Given the description of an element on the screen output the (x, y) to click on. 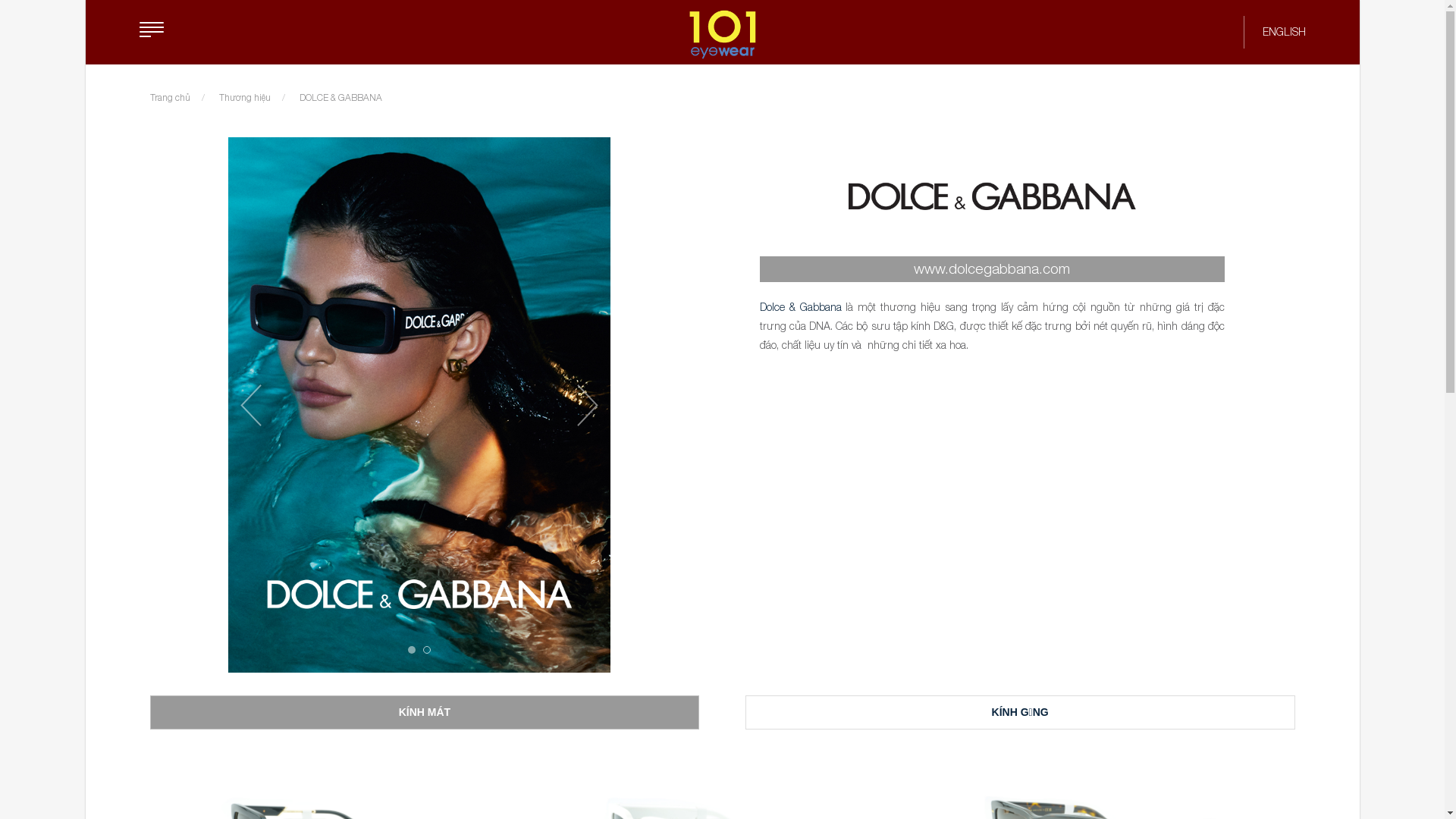
ENGLISH Element type: text (1283, 31)
DOLCE & GABBANA Element type: text (339, 97)
www.dolcegabbana.com Element type: text (991, 269)
Dolce & Gabbana Element type: text (800, 306)
YouTube video player Element type: hover (991, 492)
